Given the description of an element on the screen output the (x, y) to click on. 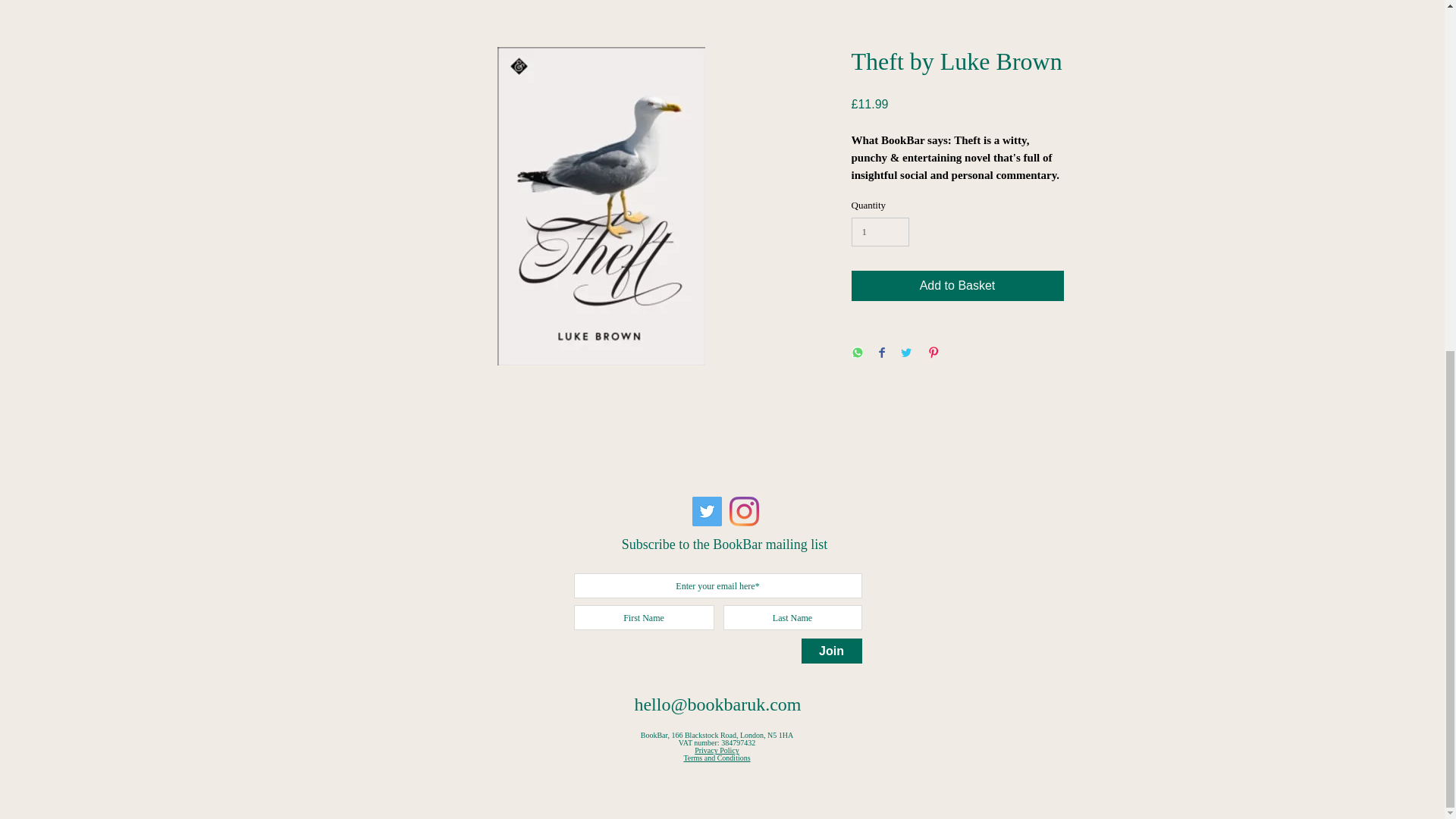
Terms and Conditions (715, 757)
Add to Basket (956, 286)
Join (830, 650)
Privacy Policy (716, 750)
1 (879, 231)
